Given the description of an element on the screen output the (x, y) to click on. 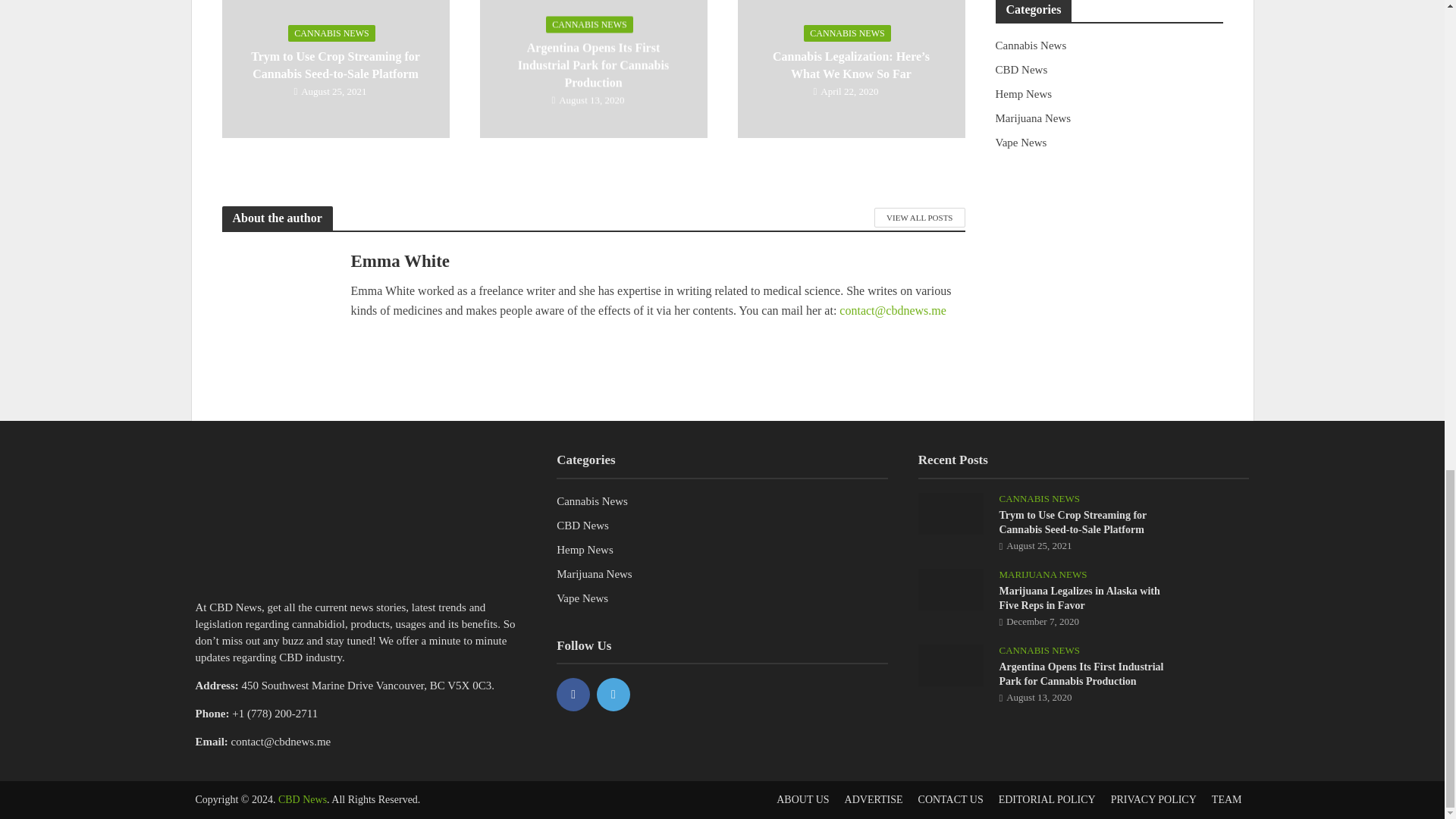
Twitter (613, 694)
Facebook (572, 694)
